Given the description of an element on the screen output the (x, y) to click on. 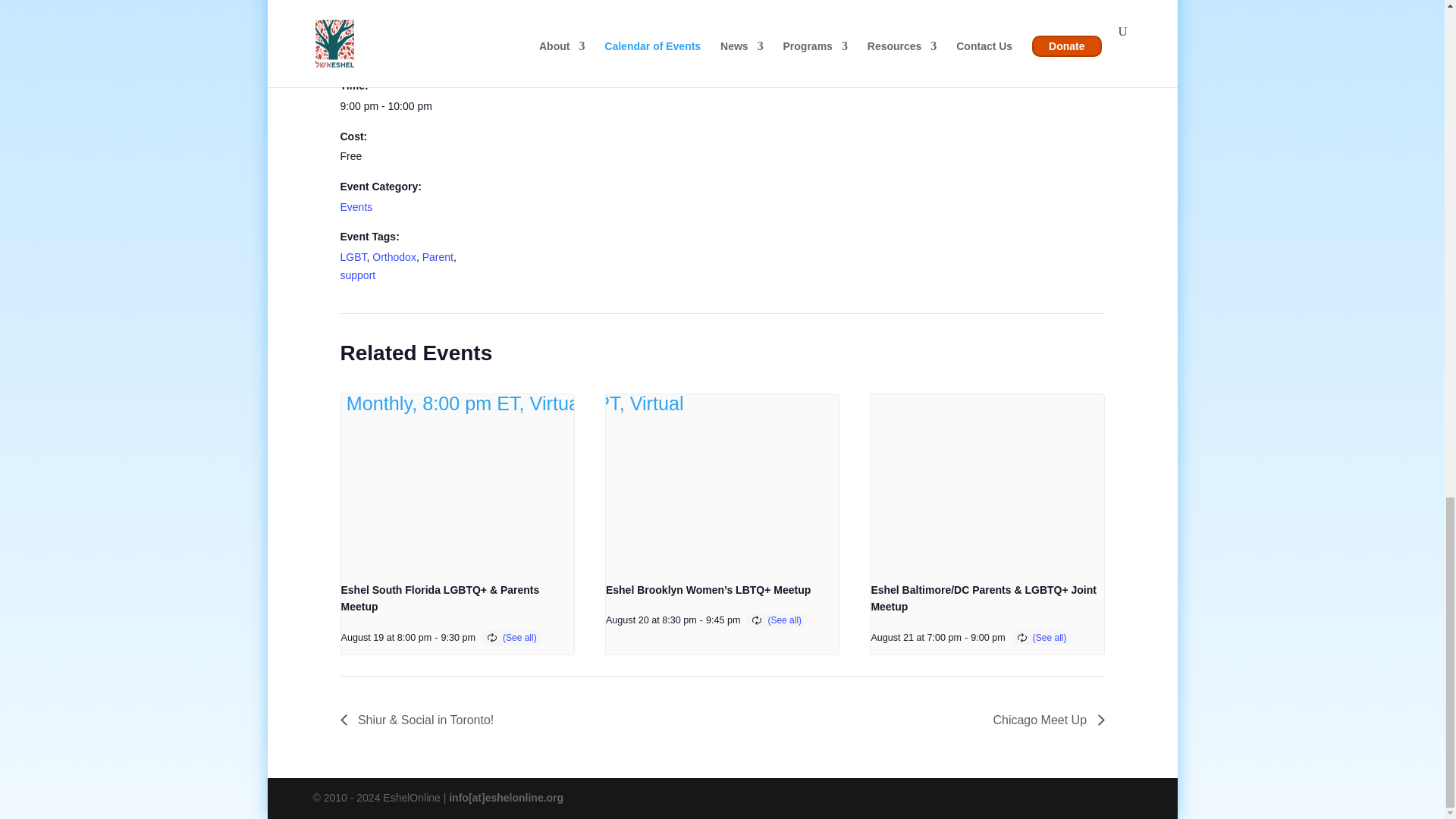
LGBT (352, 256)
2017-11-01 (403, 106)
Events (355, 206)
Eshel (644, 35)
2017-11-01 (382, 55)
